Given the description of an element on the screen output the (x, y) to click on. 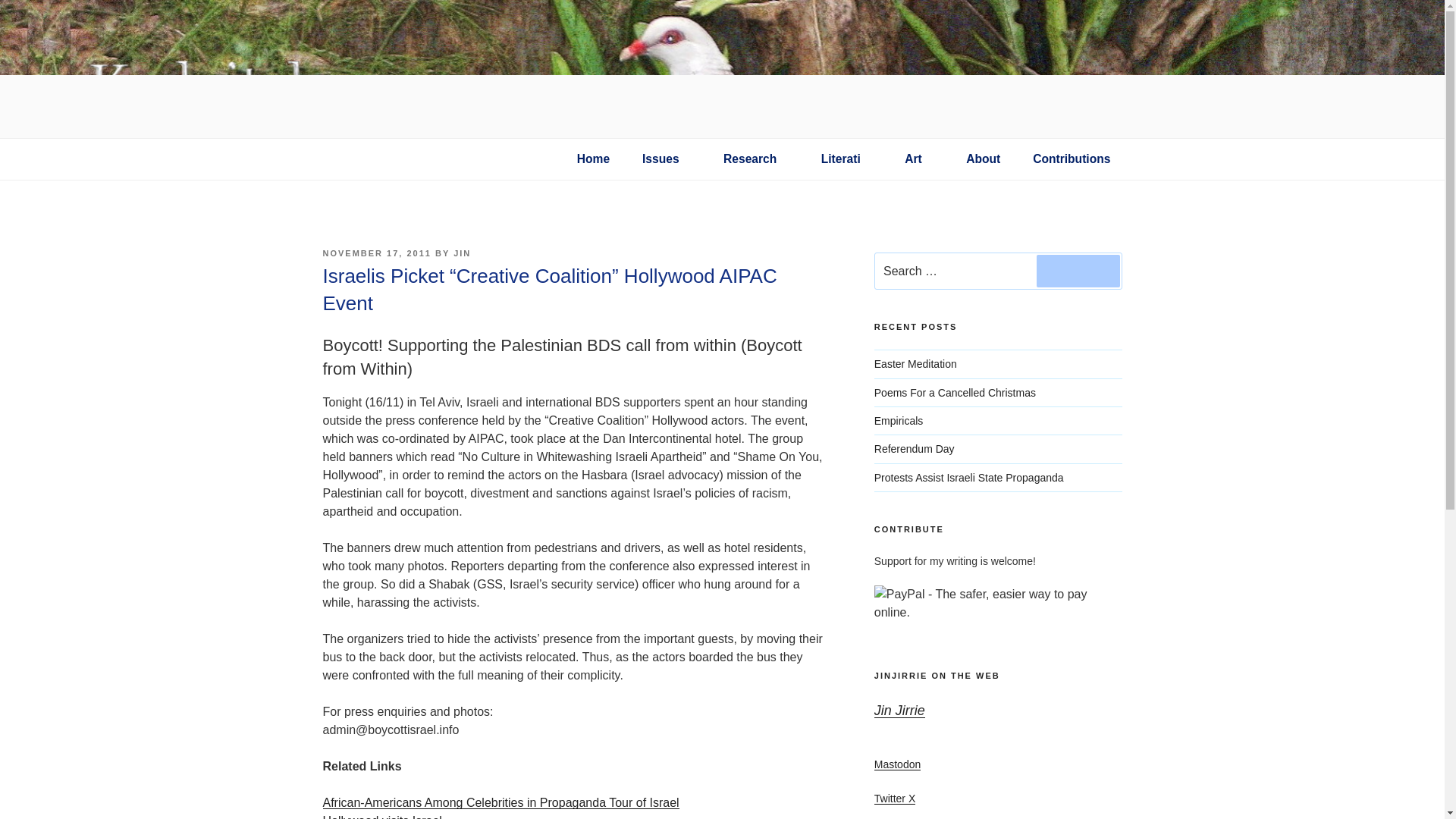
Home (593, 159)
Issues (666, 159)
KADAITCHA (414, 196)
